Given the description of an element on the screen output the (x, y) to click on. 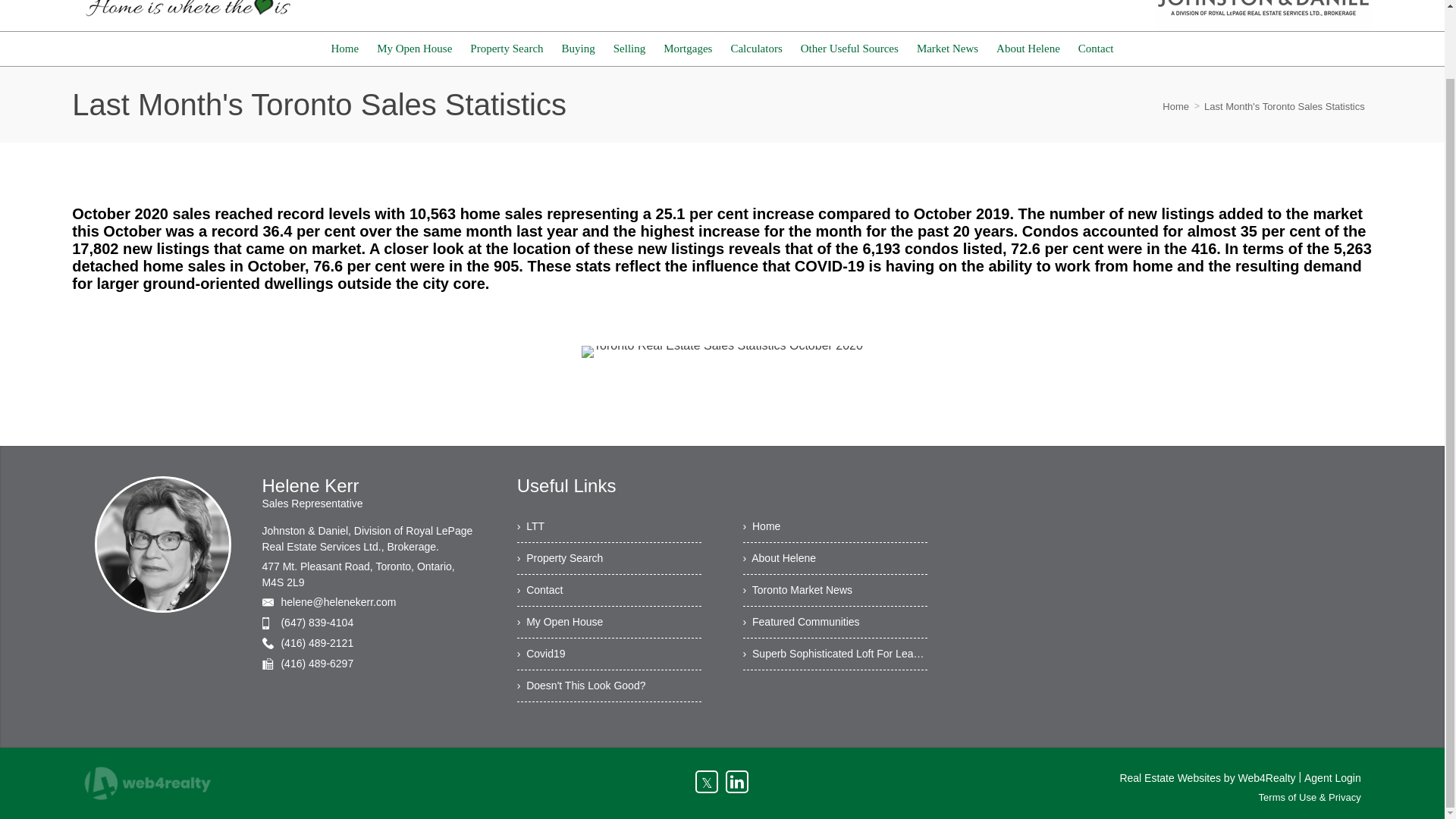
My Open House (414, 48)
Mortgages (686, 48)
Property Search (506, 48)
Helene Kerr Real Estate (185, 15)
Home (344, 48)
Calculators (755, 48)
Market News (947, 48)
My Open House (414, 48)
Selling (629, 48)
Buying (578, 48)
